Given the description of an element on the screen output the (x, y) to click on. 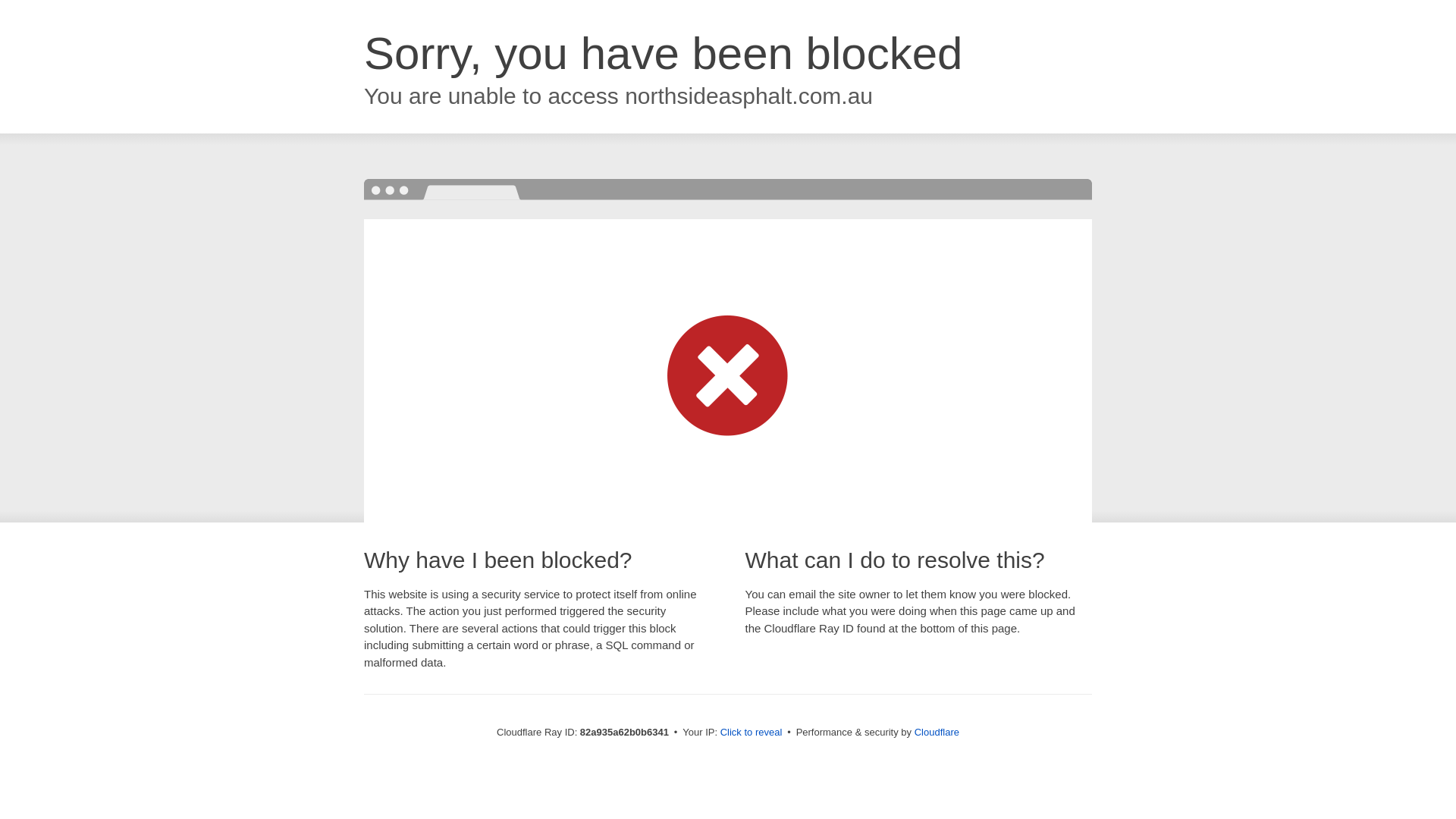
Cloudflare Element type: text (936, 731)
Click to reveal Element type: text (751, 732)
